Given the description of an element on the screen output the (x, y) to click on. 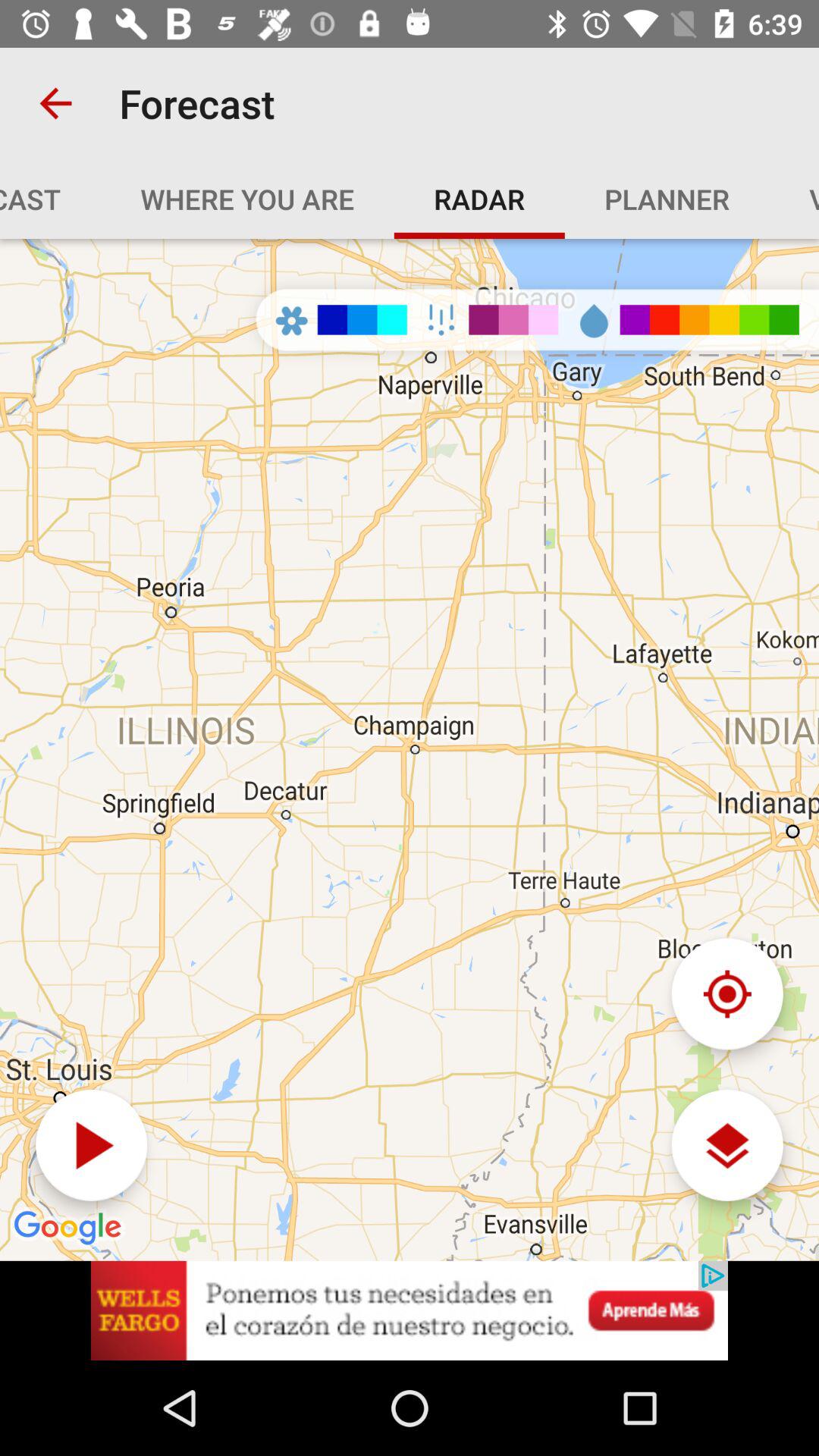
learn more about wells fargo (409, 1310)
